Given the description of an element on the screen output the (x, y) to click on. 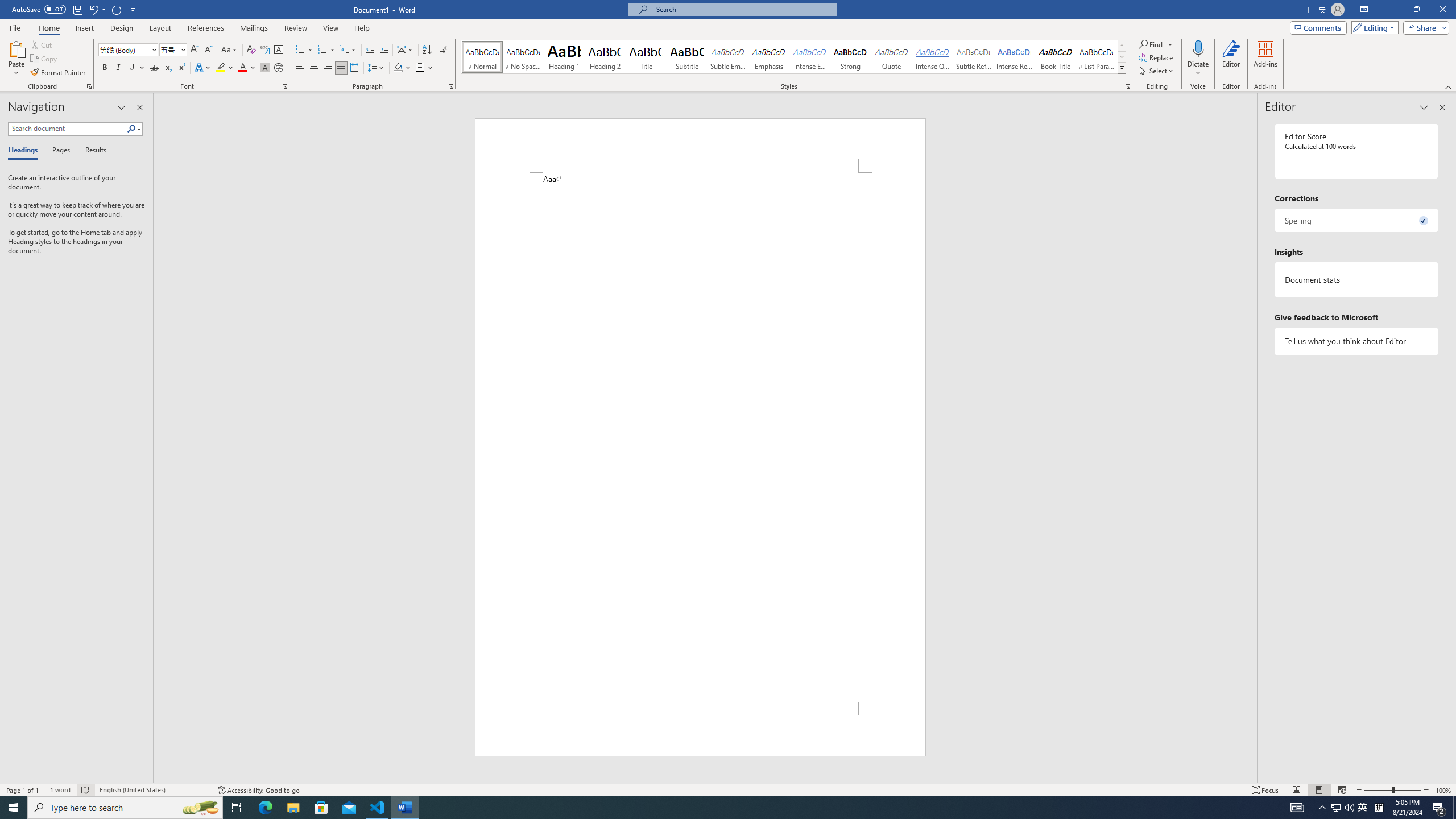
Subtitle (686, 56)
Zoom 100% (1443, 790)
